Given the description of an element on the screen output the (x, y) to click on. 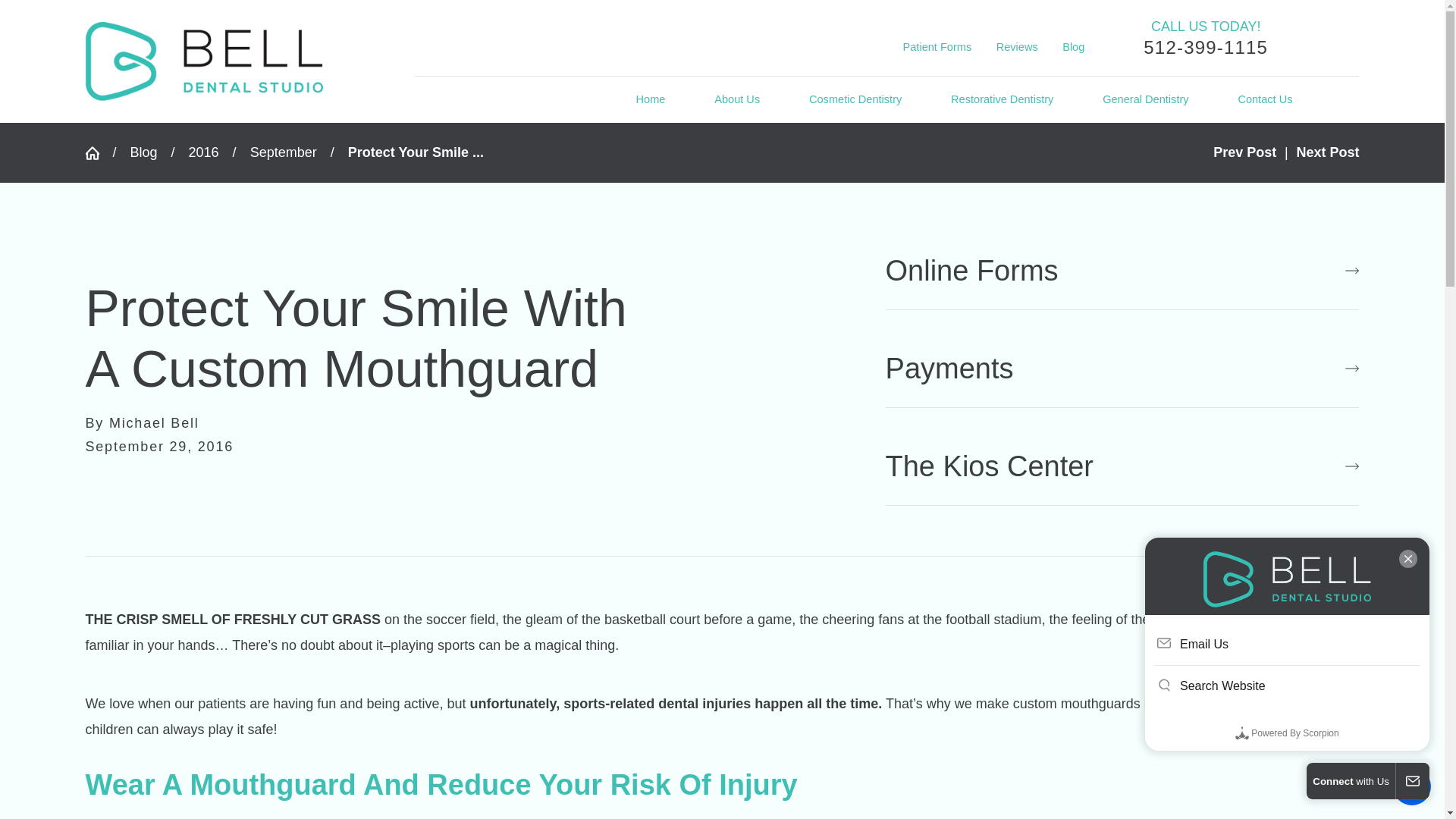
Open the accessibility options menu (1412, 786)
512-399-1115 (1205, 47)
Contact Us (1264, 99)
General Dentistry (1145, 99)
Restorative Dentistry (1001, 99)
2016 (204, 152)
About Us (737, 99)
Patient Forms (937, 46)
Go Home (98, 152)
Blog (144, 152)
Reviews (1016, 46)
September (283, 152)
Bell Dental Studio (202, 61)
Blog (1073, 46)
Cosmetic Dentistry (855, 99)
